Given the description of an element on the screen output the (x, y) to click on. 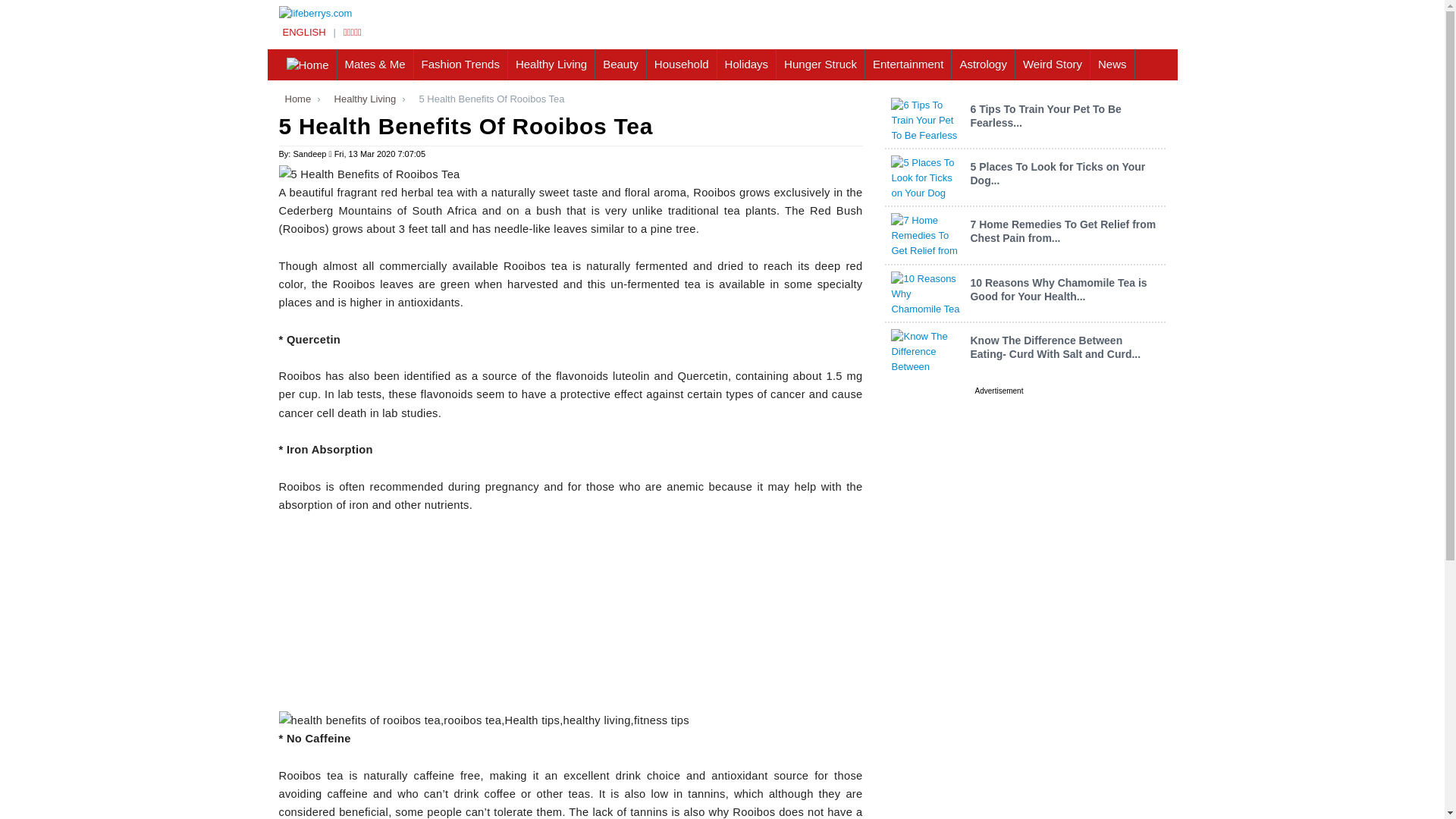
News (1112, 64)
Weird Story (1052, 64)
Home (295, 98)
10 Reasons Why Chamomile Tea is Good for Your Health... (1058, 289)
Health Tips, Healthy Living (551, 64)
Hunger Struck (820, 64)
Holidays, Travel (747, 64)
lifeberrys.com (303, 31)
Entertainment (908, 64)
